Given the description of an element on the screen output the (x, y) to click on. 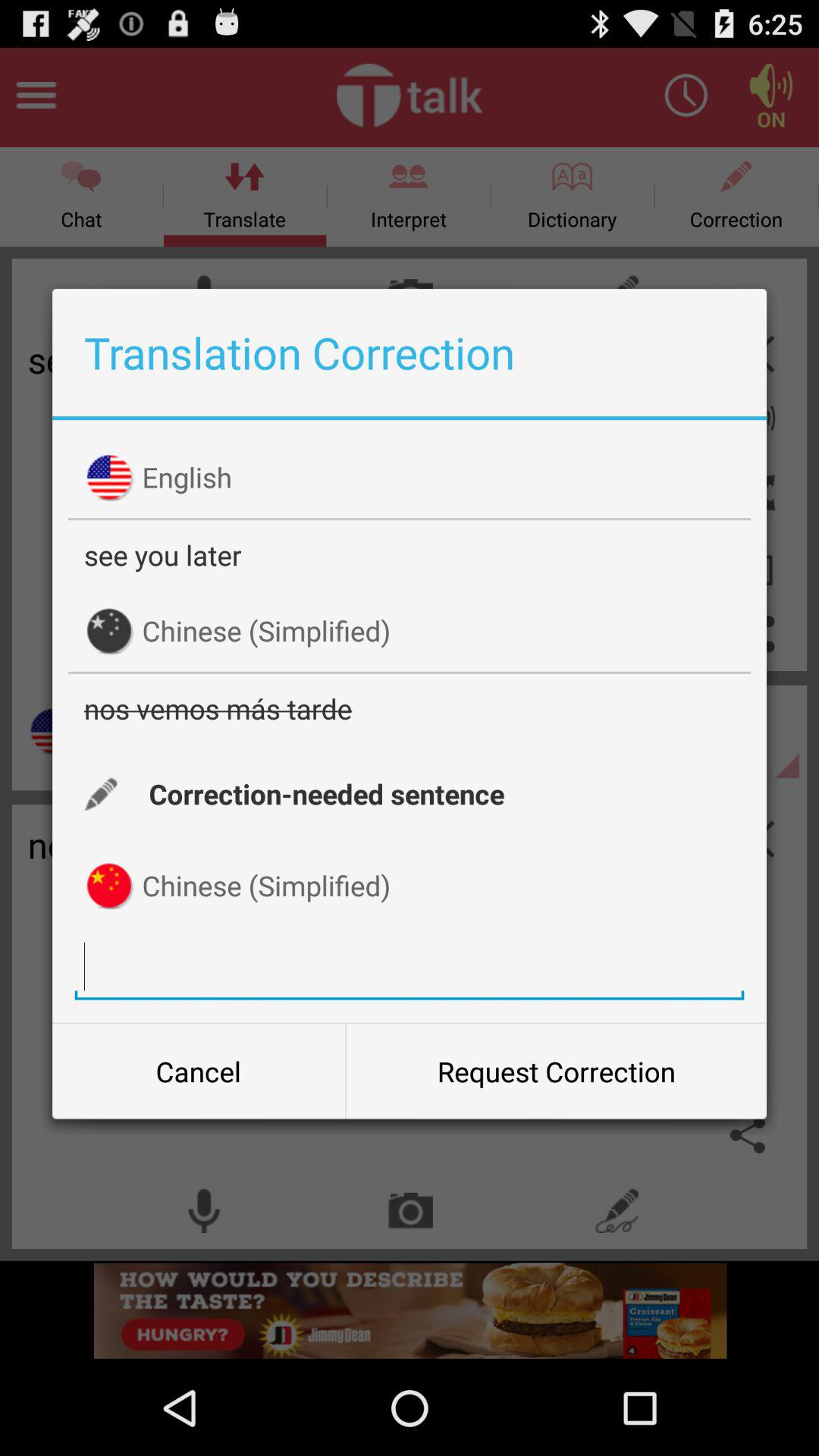
flip until the request correction icon (556, 1071)
